Given the description of an element on the screen output the (x, y) to click on. 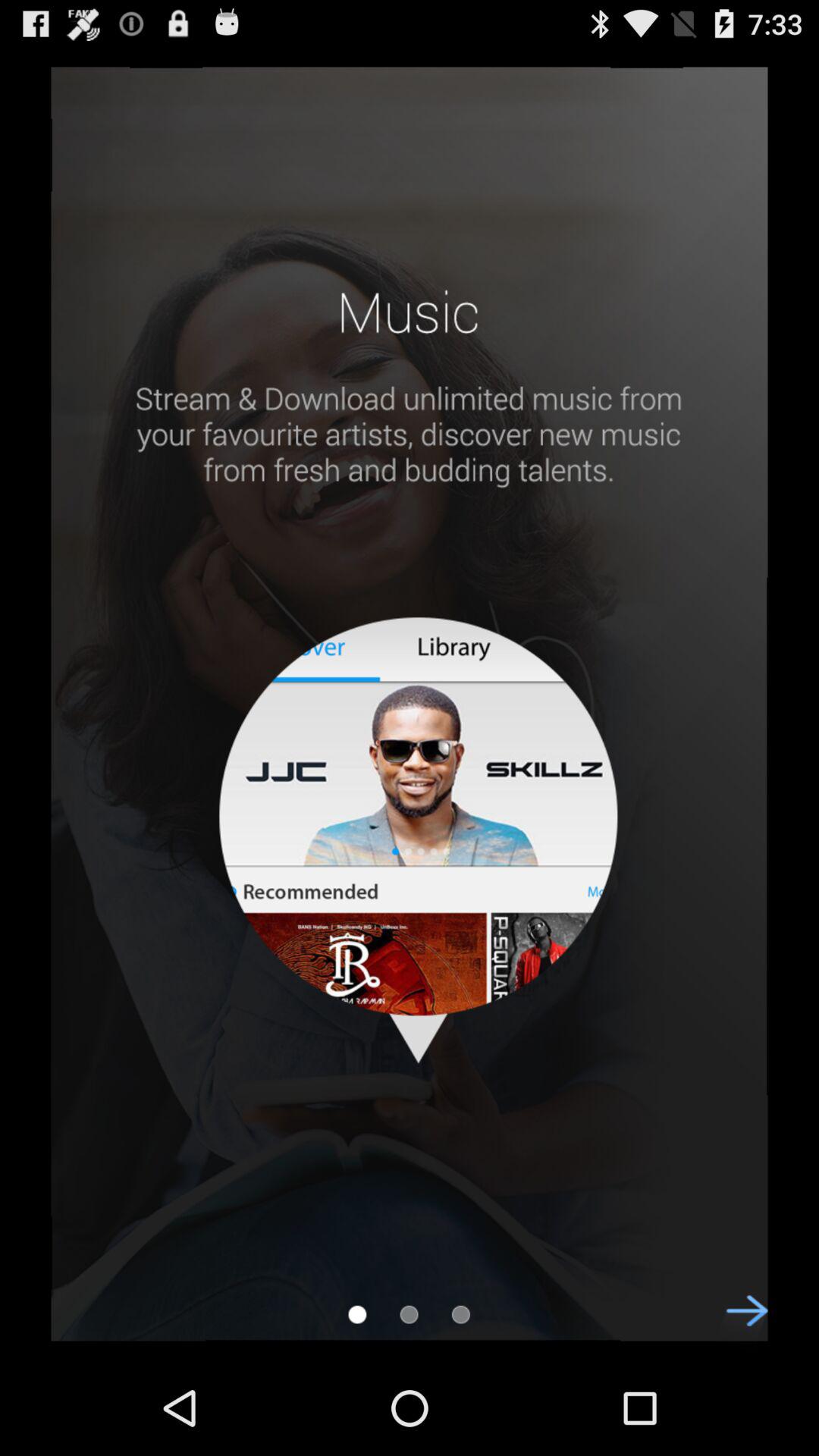
to move ahead/forward (738, 1324)
